Given the description of an element on the screen output the (x, y) to click on. 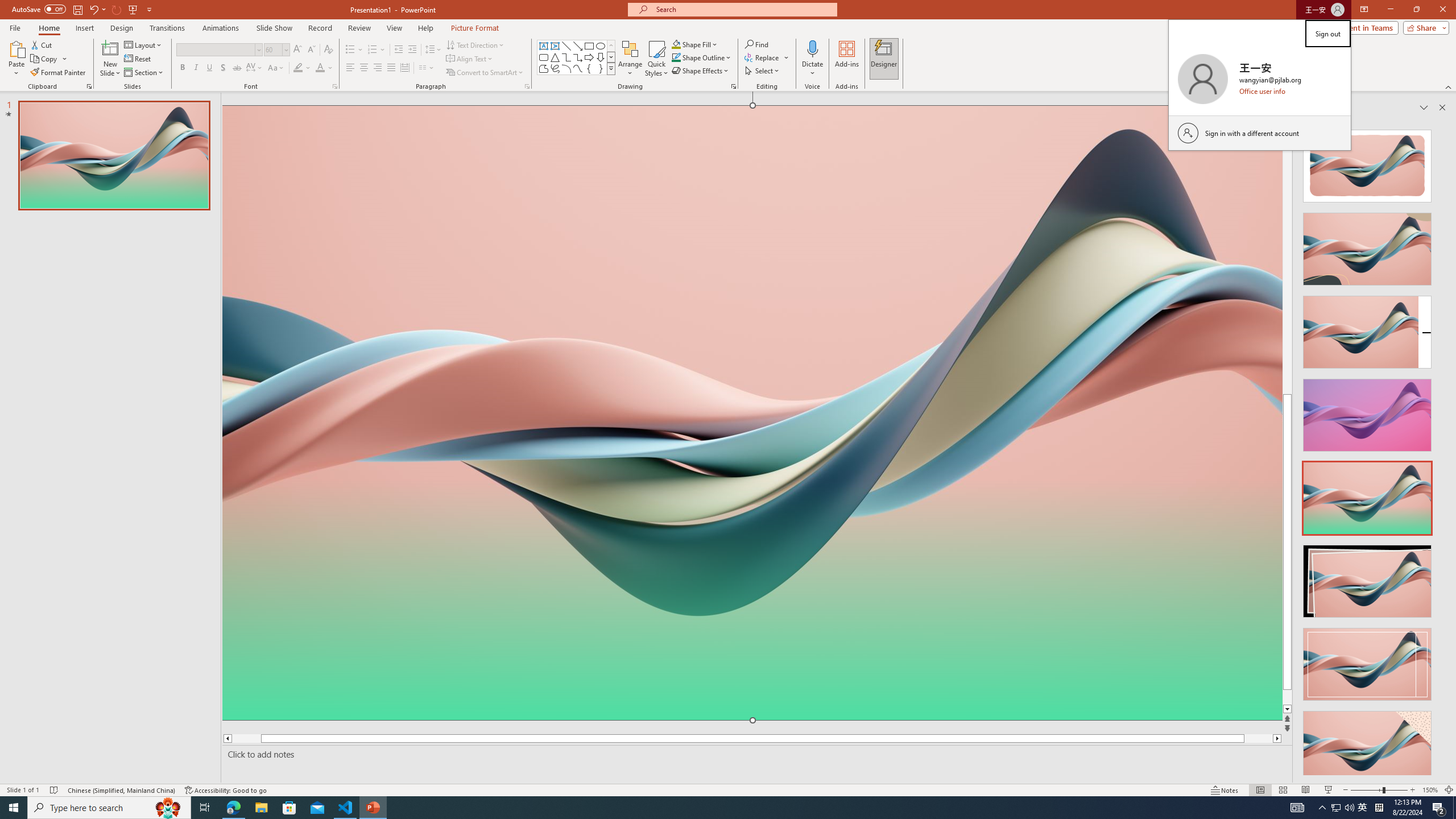
Class: NetUIScrollBar (1441, 447)
